Given the description of an element on the screen output the (x, y) to click on. 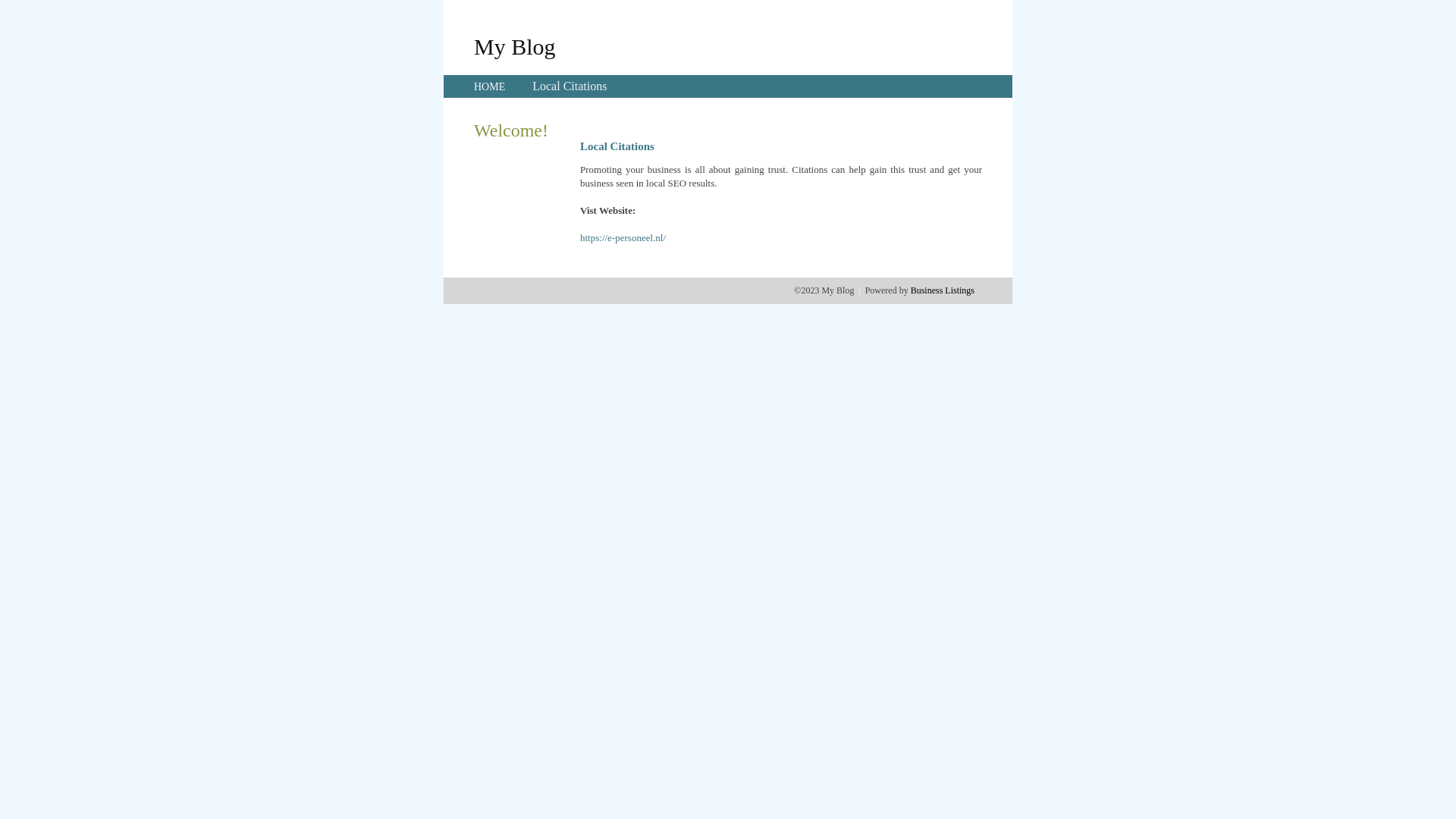
Business Listings Element type: text (942, 290)
My Blog Element type: text (514, 46)
https://e-personeel.nl/ Element type: text (622, 237)
Local Citations Element type: text (569, 85)
HOME Element type: text (489, 86)
